Given the description of an element on the screen output the (x, y) to click on. 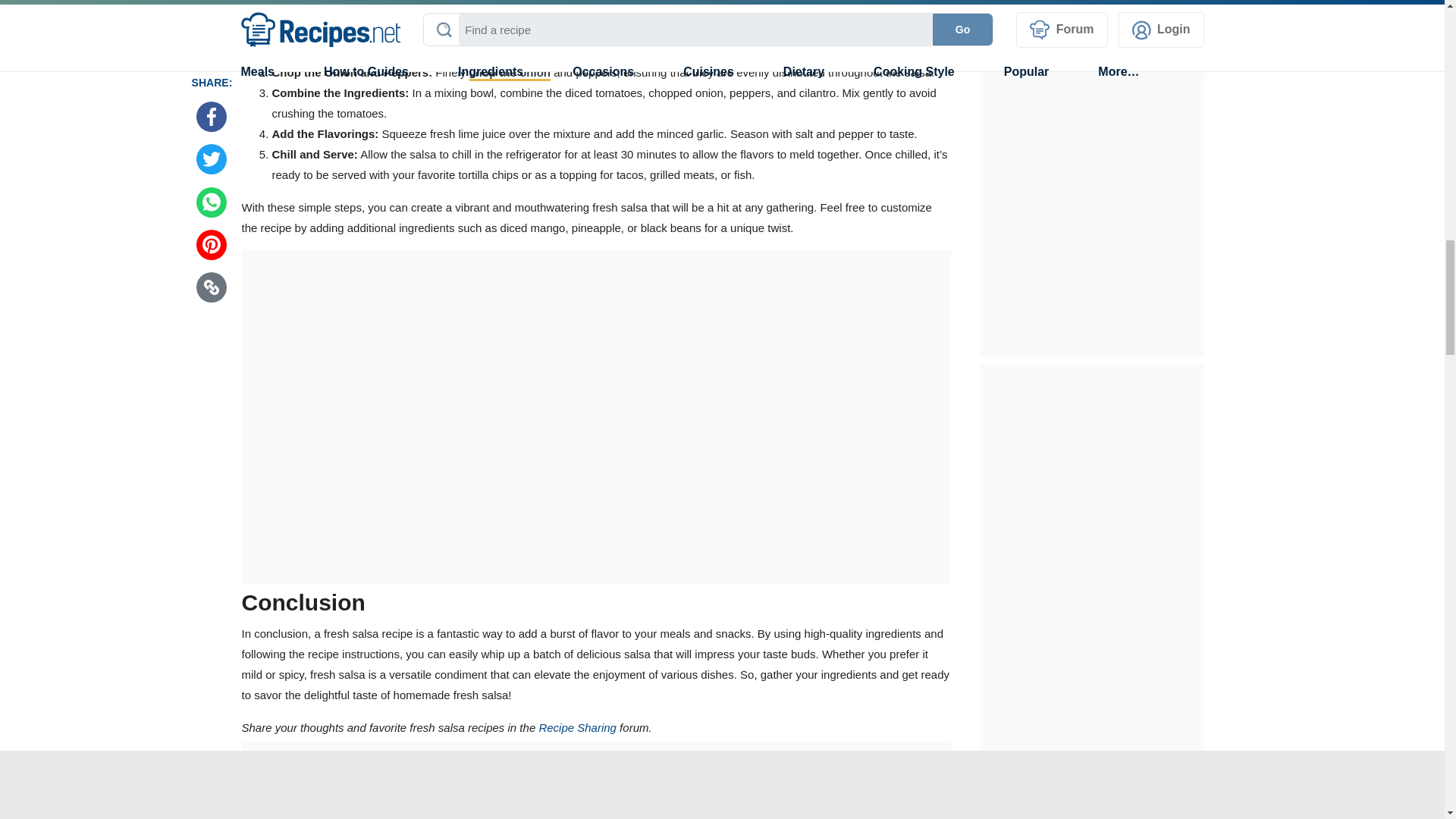
chop the onion (509, 73)
